Given the description of an element on the screen output the (x, y) to click on. 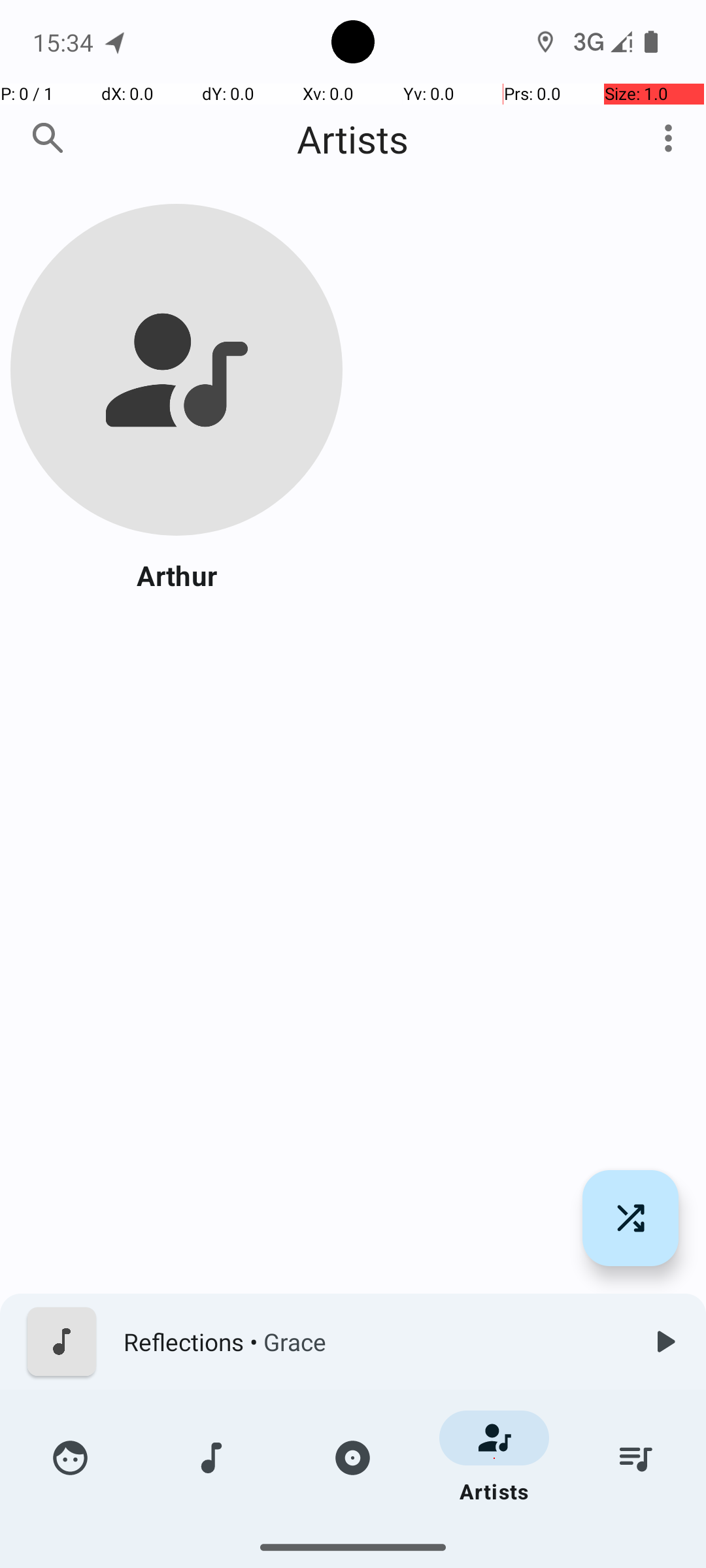
Artists Element type: android.widget.TextView (352, 138)
Shuffle Element type: android.widget.ImageButton (630, 1218)
For you Element type: android.widget.FrameLayout (70, 1457)
Songs Element type: android.widget.FrameLayout (211, 1457)
Albums Element type: android.widget.FrameLayout (352, 1457)
Playlists Element type: android.widget.FrameLayout (635, 1457)
Reflections • Grace Element type: android.widget.TextView (372, 1341)
Arthur Element type: android.widget.TextView (176, 574)
